Given the description of an element on the screen output the (x, y) to click on. 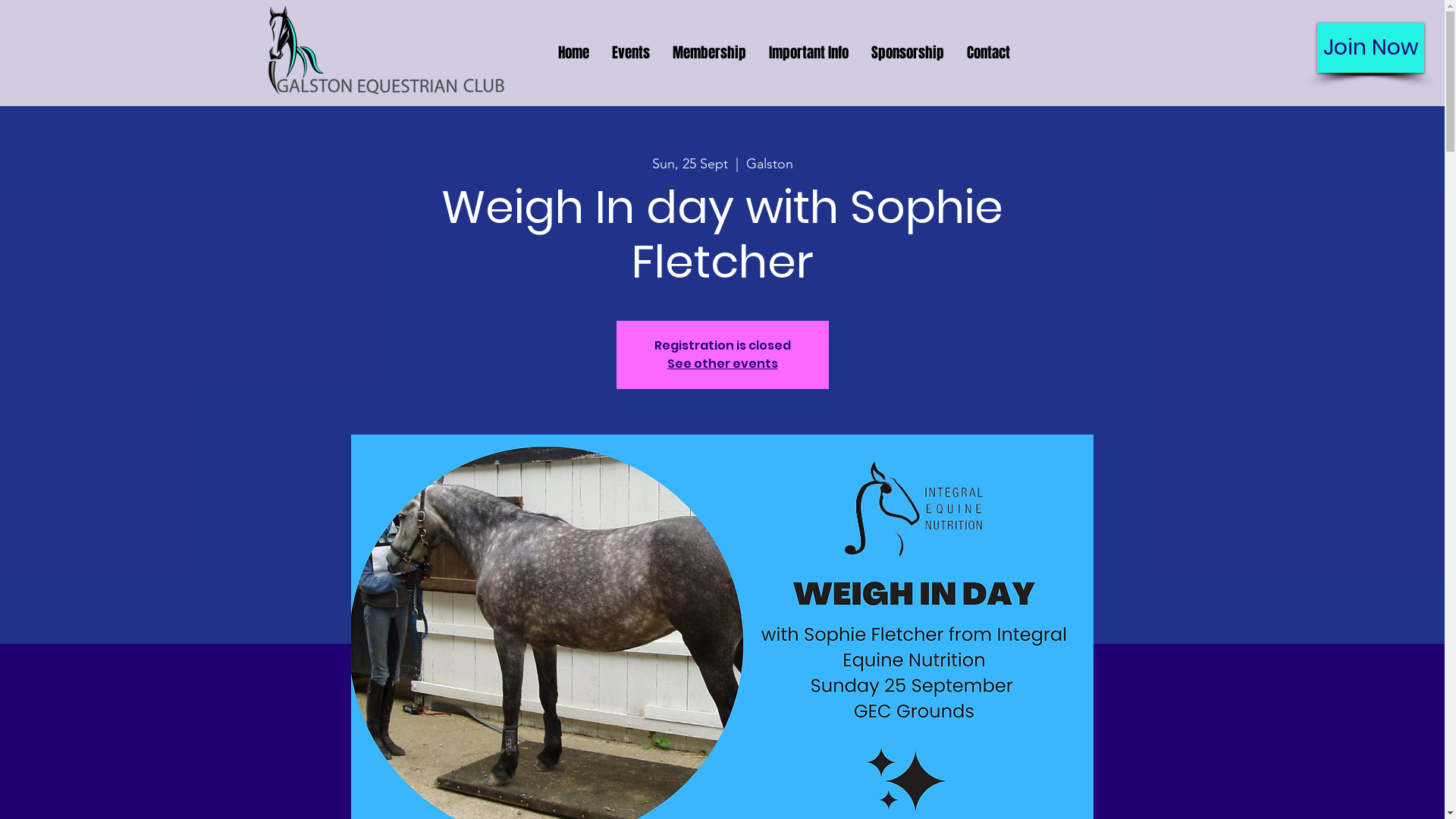
Membership Element type: text (709, 52)
Events Element type: text (630, 52)
Join Now Element type: text (1370, 47)
See other events Element type: text (722, 363)
Home Element type: text (572, 52)
Contact Element type: text (988, 52)
Sponsorship Element type: text (907, 52)
Important Info Element type: text (807, 52)
